Given the description of an element on the screen output the (x, y) to click on. 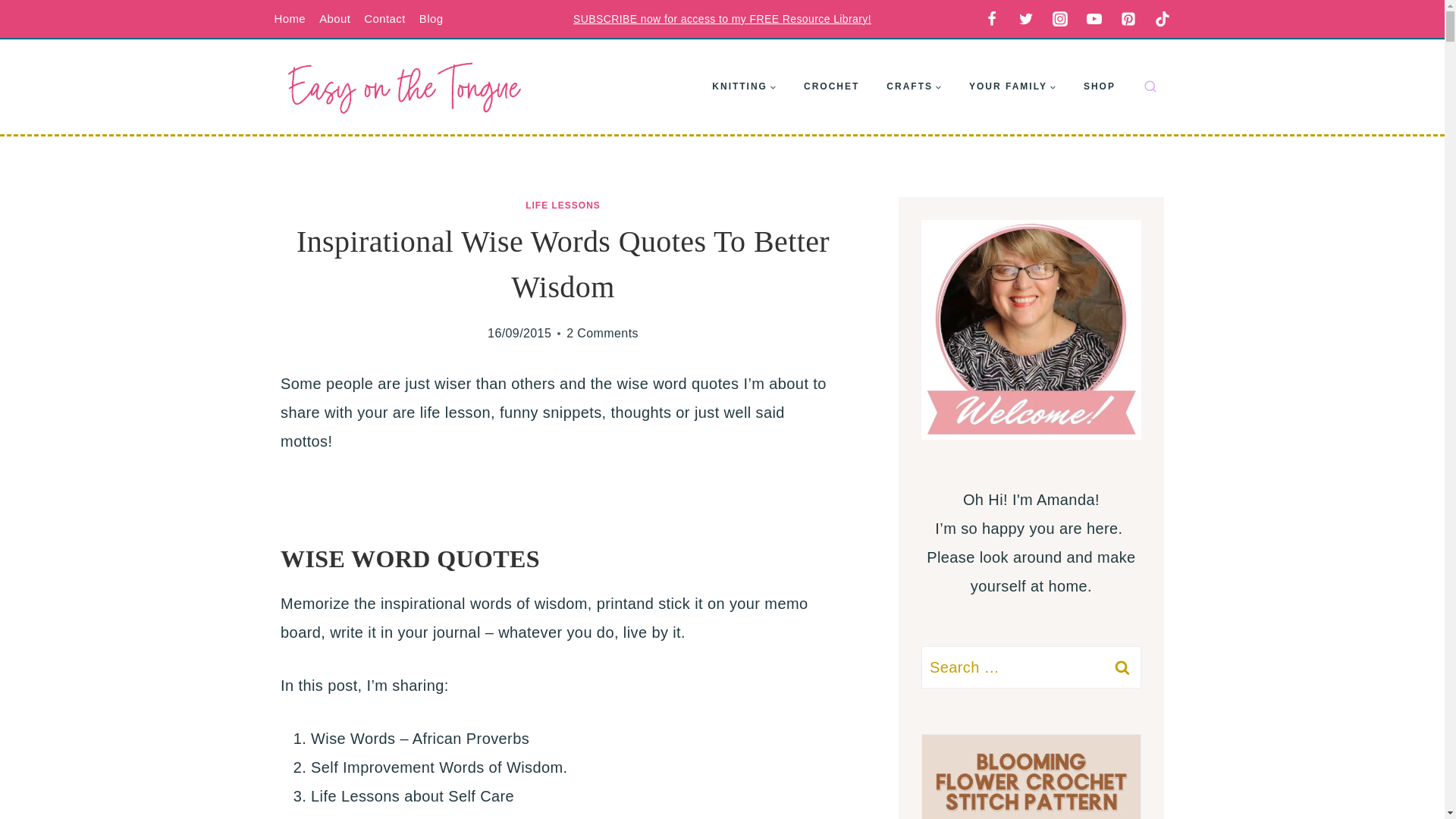
Contact (384, 19)
SHOP (1099, 86)
2 Comments (602, 333)
2 Comments (602, 333)
Blog (430, 19)
Search (1122, 667)
CROCHET (831, 86)
About (334, 19)
Home (289, 19)
LIFE LESSONS (562, 204)
Search (1122, 667)
SUBSCRIBE now for access to my FREE Resource Library! (721, 19)
CRAFTS (913, 86)
YOUR FAMILY (1012, 86)
KNITTING (744, 86)
